Given the description of an element on the screen output the (x, y) to click on. 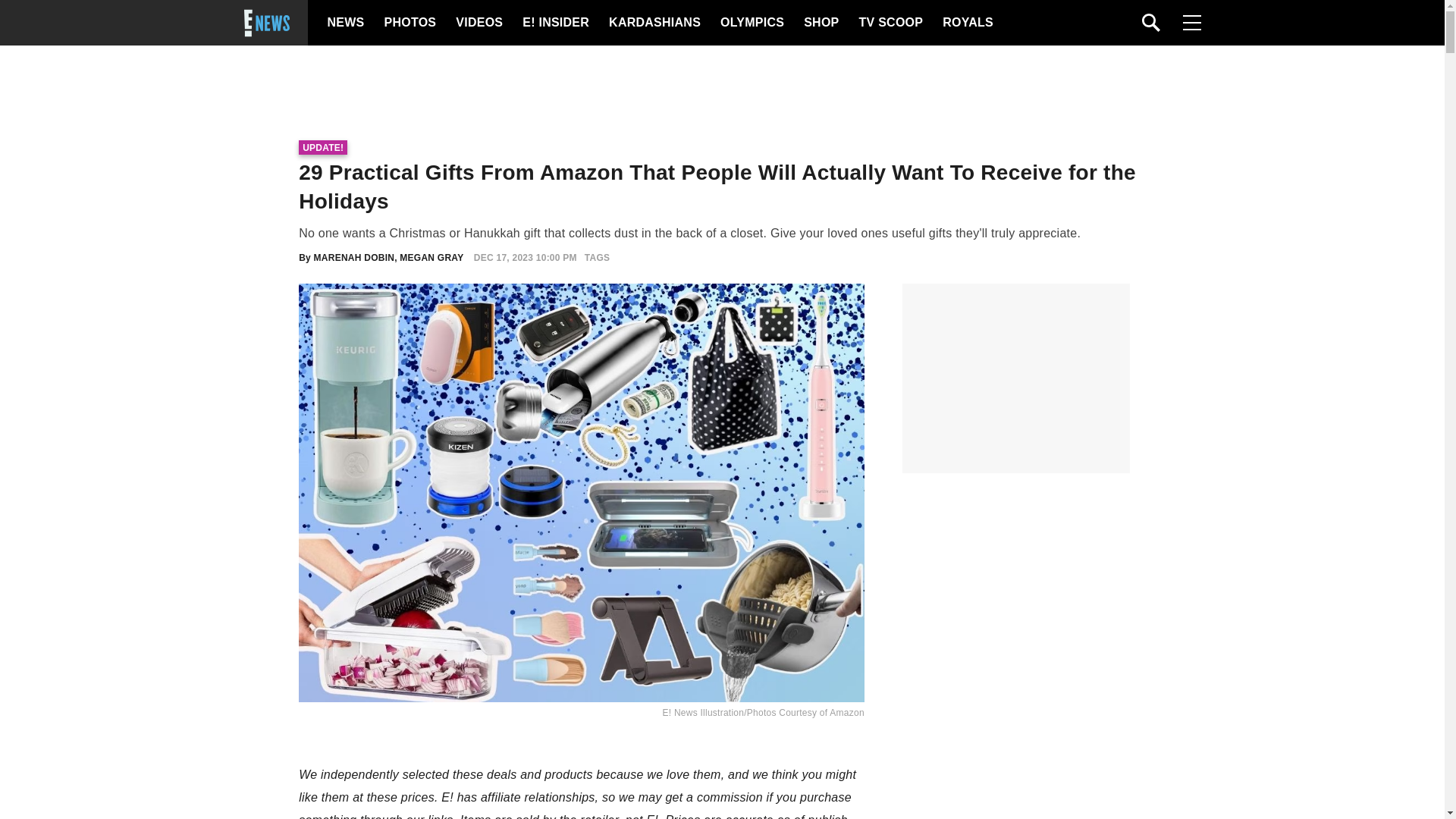
MARENAH DOBIN (354, 257)
VIDEOS (478, 22)
ROYALS (966, 22)
KARDASHIANS (653, 22)
SHOP (820, 22)
E! INSIDER (555, 22)
TV SCOOP (890, 22)
NEWS (345, 22)
PHOTOS (408, 22)
OLYMPICS (751, 22)
MEGAN GRAY (430, 257)
